Given the description of an element on the screen output the (x, y) to click on. 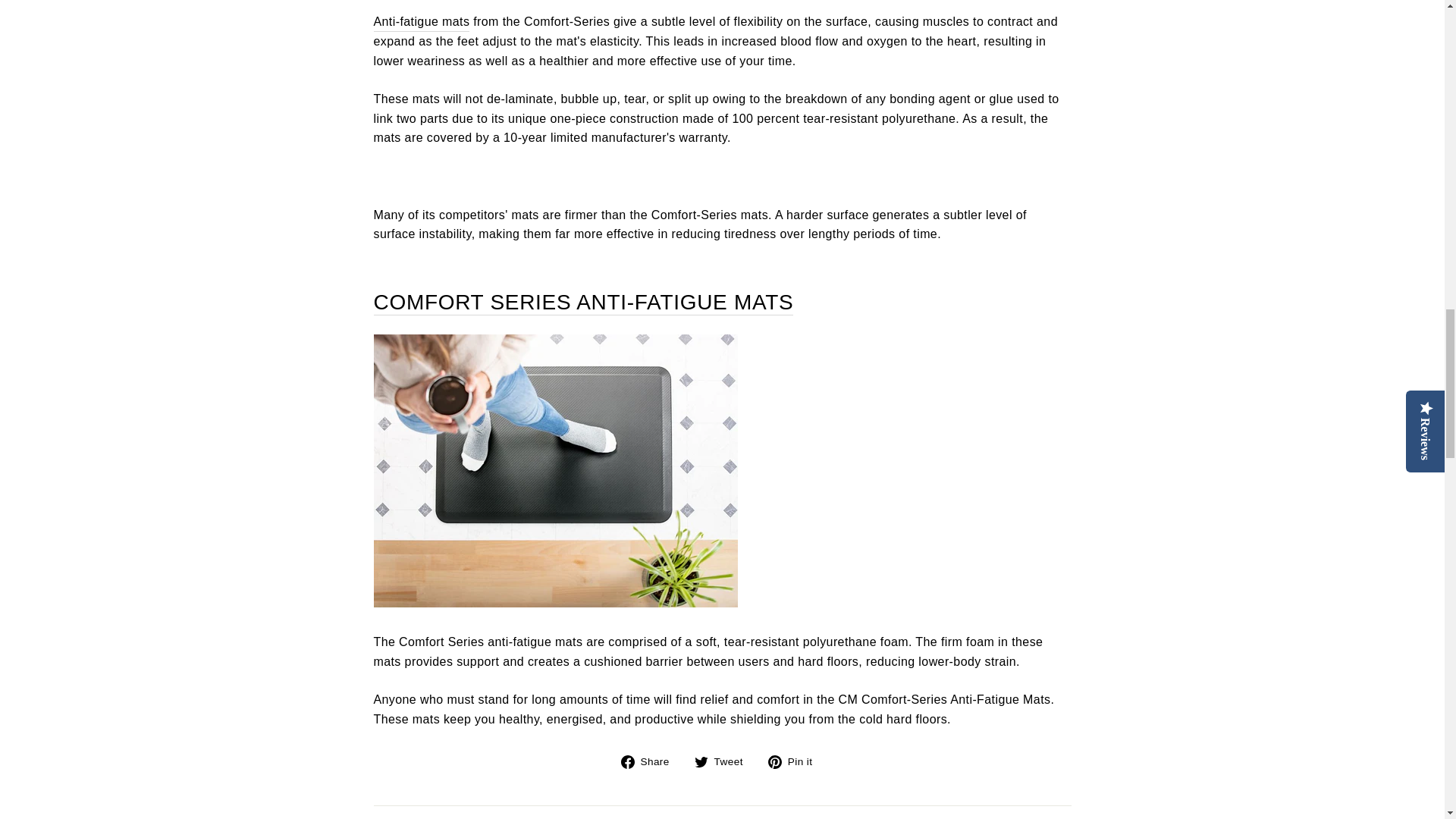
Tweet on Twitter (724, 761)
Share on Facebook (651, 761)
Pin on Pinterest (796, 761)
